Given the description of an element on the screen output the (x, y) to click on. 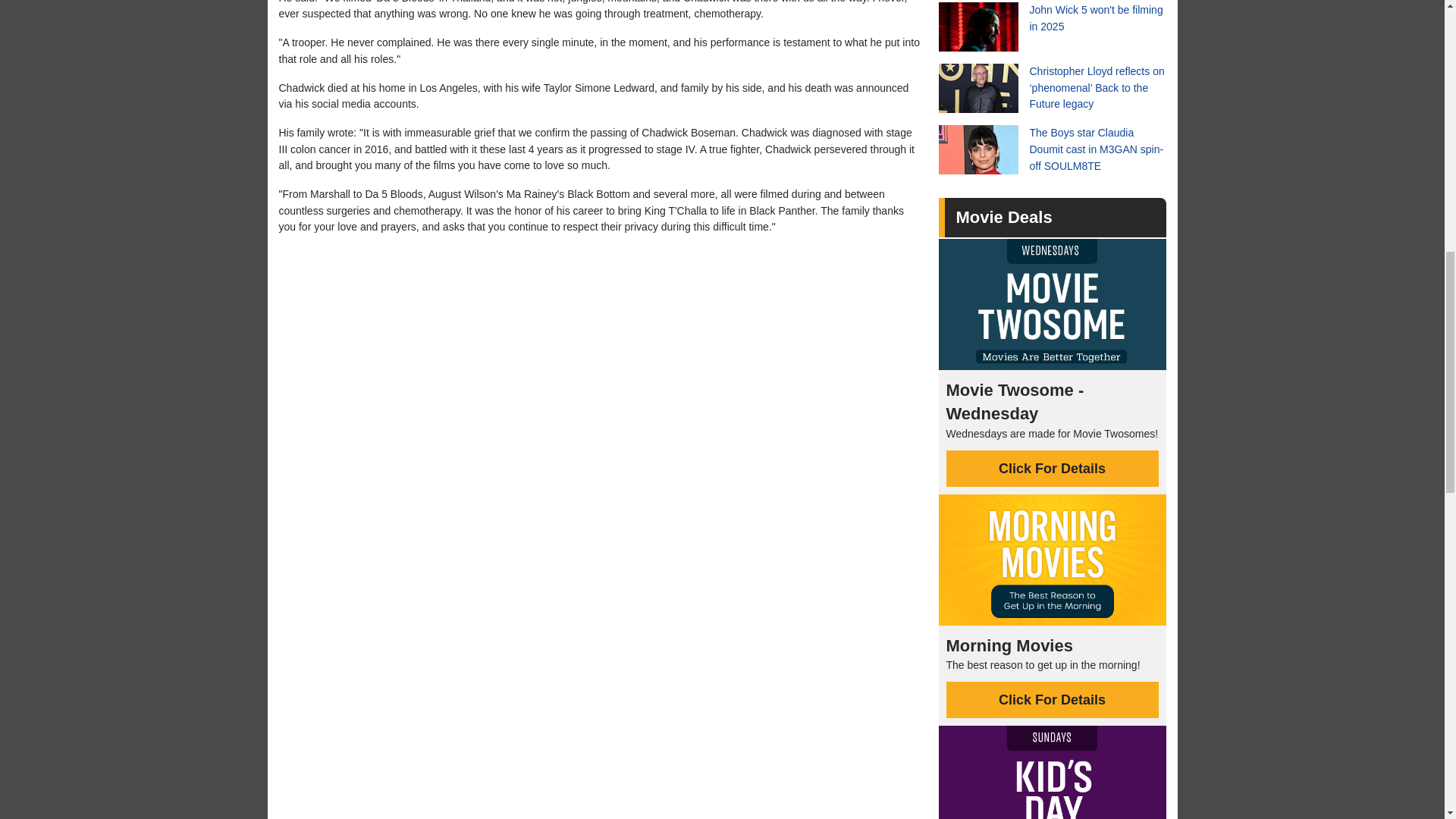
Click For Details (1052, 468)
Click For Details (1052, 699)
The Boys star Claudia Doumit cast in M3GAN spin-off SOULM8TE (1052, 149)
Movie Deals (1003, 217)
John Wick 5 won't be filming in 2025 (1052, 26)
